Given the description of an element on the screen output the (x, y) to click on. 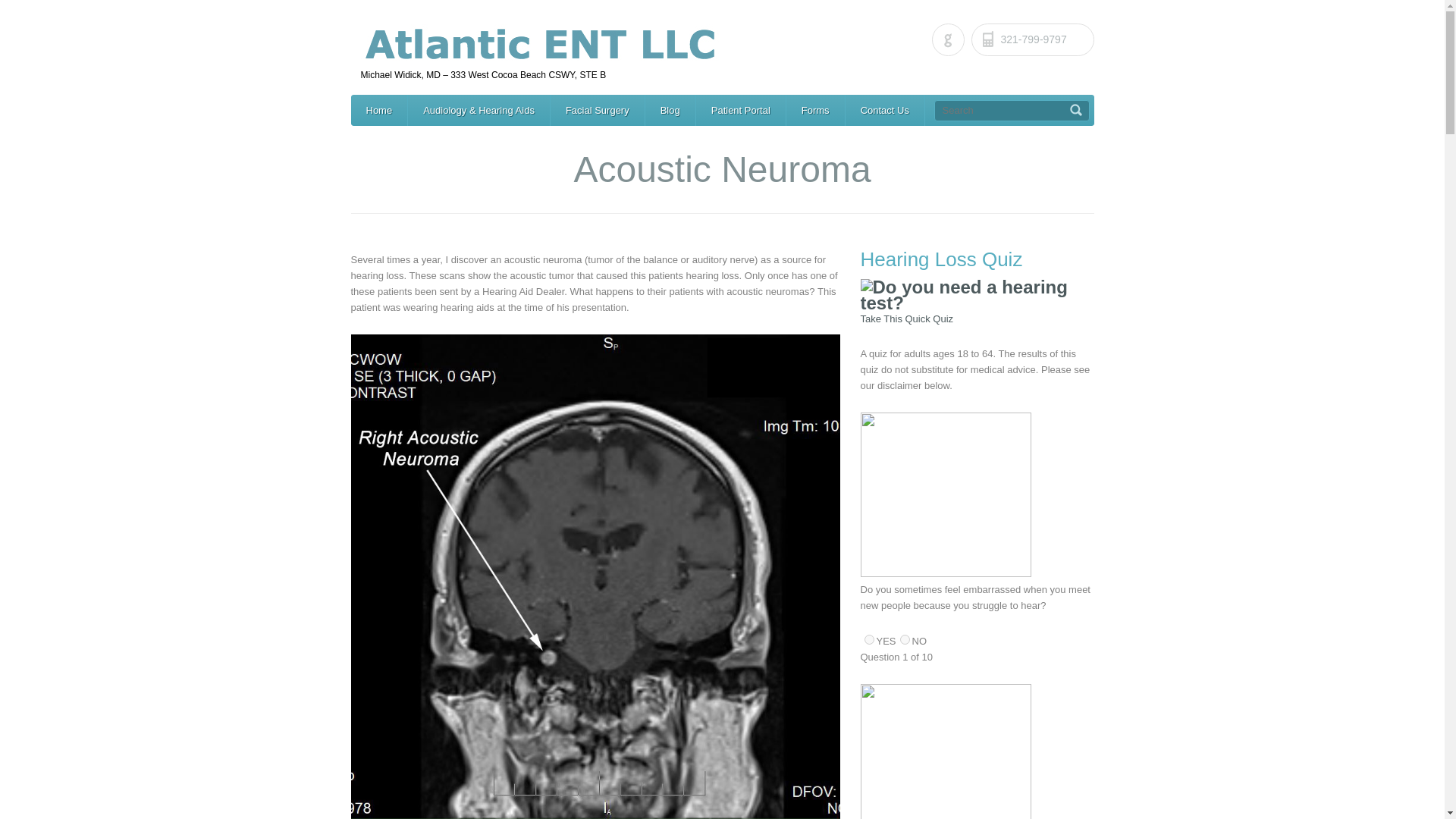
No (904, 639)
Contact Us (884, 110)
Allergy Testing and Treatment (1005, 110)
Take This Quick Quiz (906, 318)
Patient Portal (740, 110)
Yes (869, 639)
Facial Surgery (597, 110)
Forms (815, 110)
Home (378, 110)
Atlantic ENT LLC (727, 52)
Blog (670, 110)
